Given the description of an element on the screen output the (x, y) to click on. 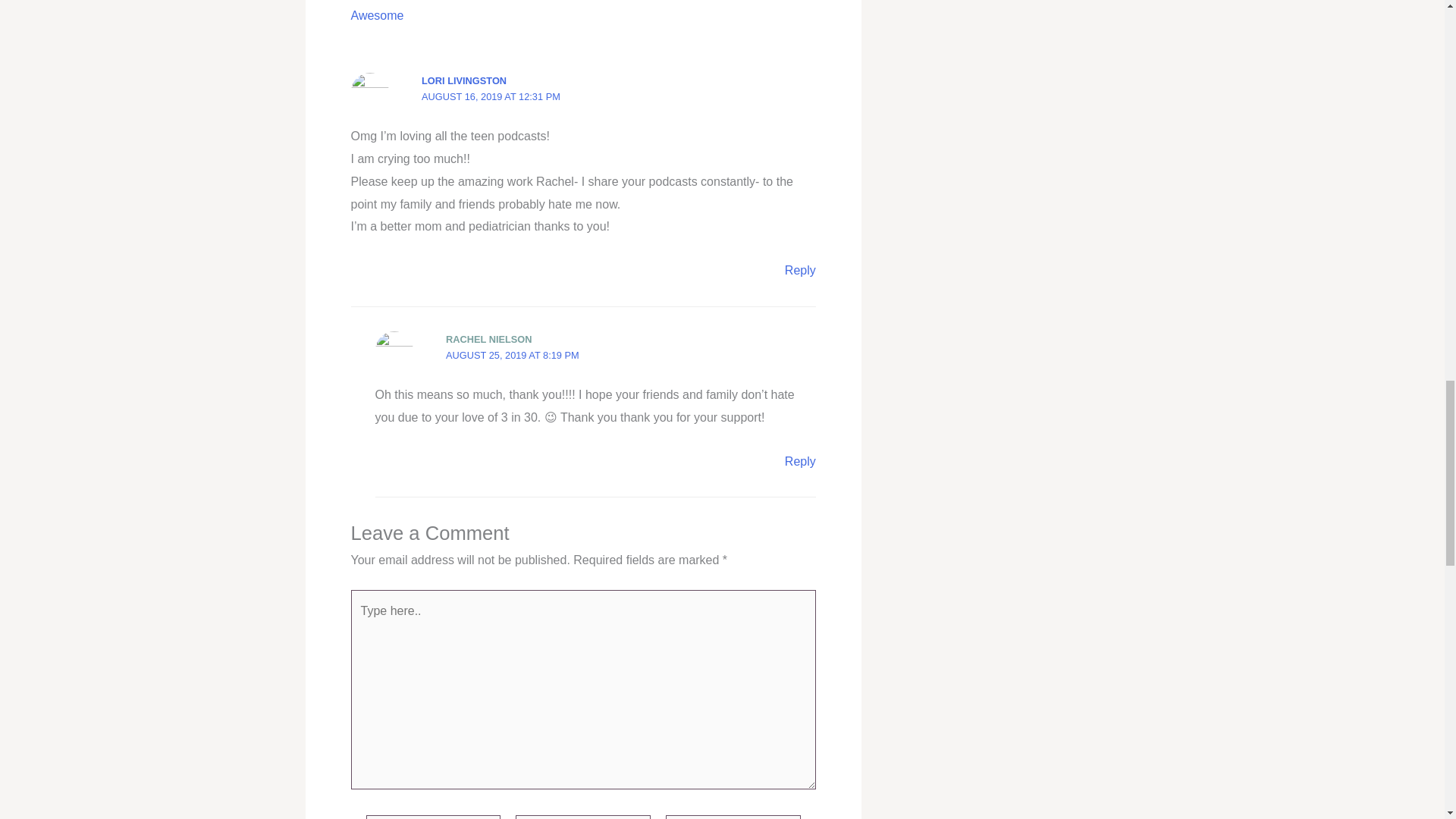
Reply (799, 269)
Reply (799, 461)
AUGUST 25, 2019 AT 8:19 PM (512, 355)
LORI LIVINGSTON (464, 80)
AUGUST 16, 2019 AT 12:31 PM (491, 96)
